Given the description of an element on the screen output the (x, y) to click on. 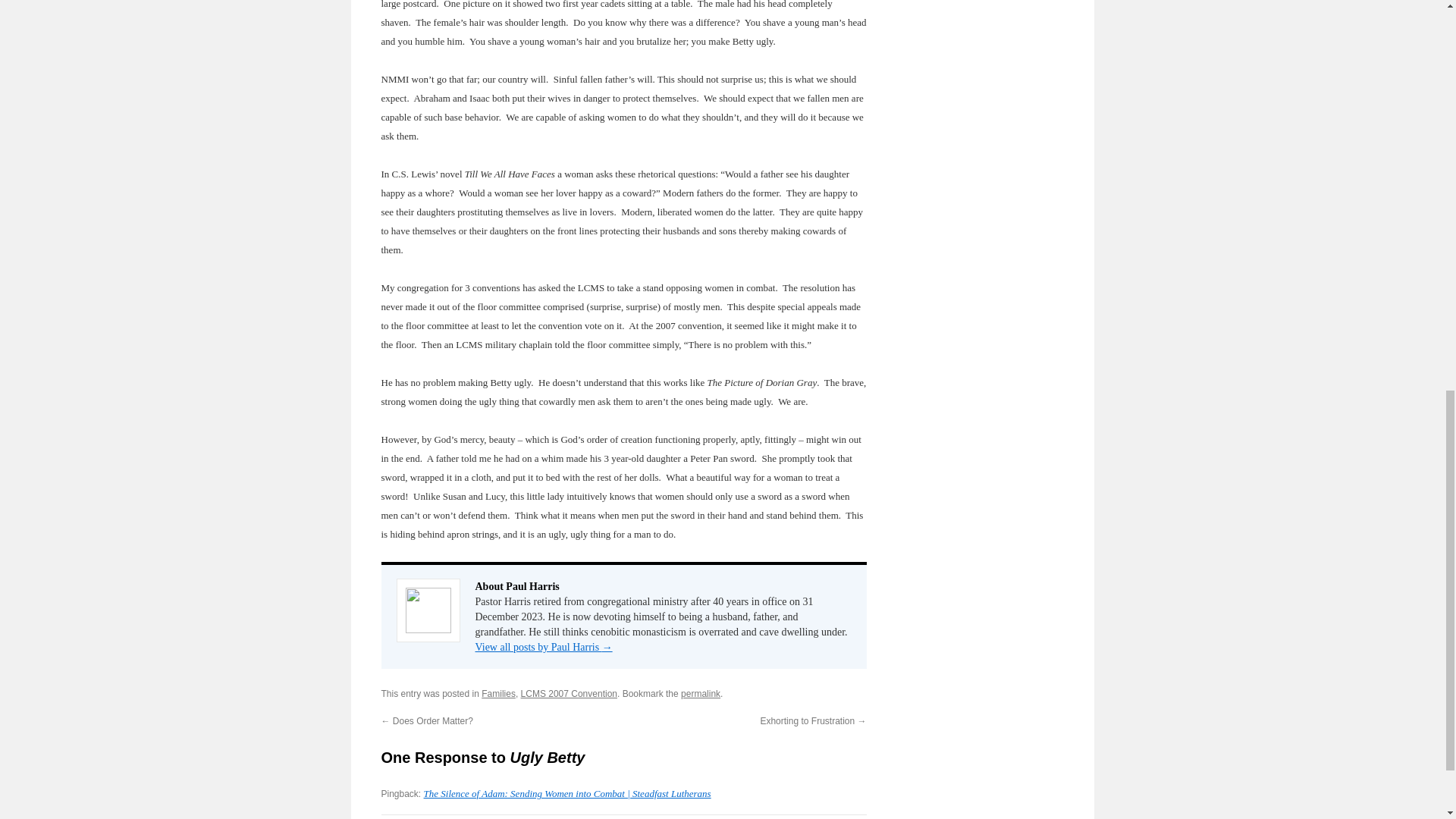
permalink (700, 693)
Permalink to Ugly Betty (700, 693)
Families (498, 693)
LCMS 2007 Convention (569, 693)
